Given the description of an element on the screen output the (x, y) to click on. 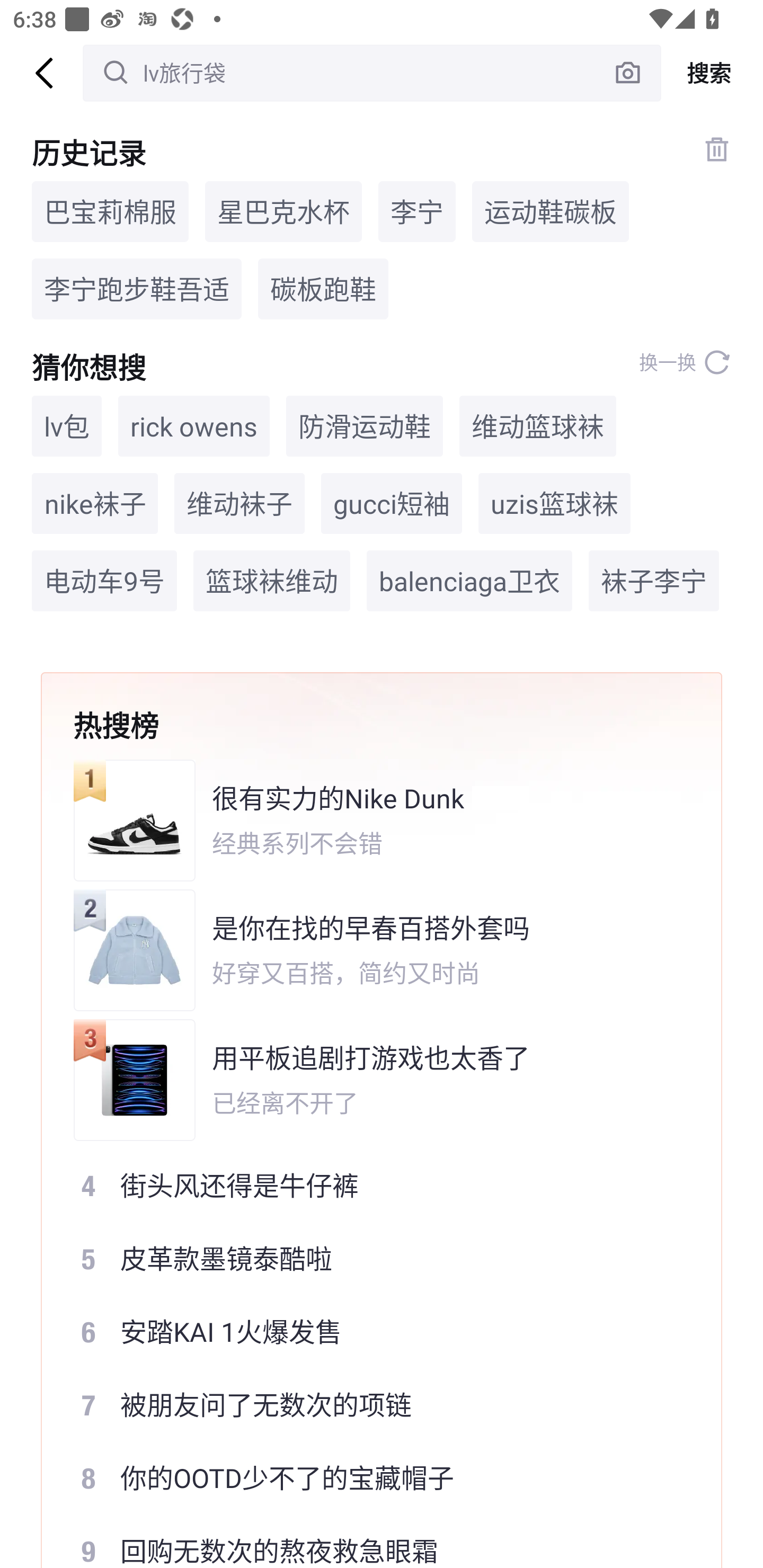
搜索 (712, 72)
lv旅行袋 (371, 72)
巴宝莉棉服 (110, 211)
星巴克水杯 (283, 211)
李宁 (416, 211)
运动鞋碳板 (550, 211)
李宁跑步鞋吾适 (136, 288)
碳板跑鞋 (322, 288)
换一换 (684, 362)
lv包 (66, 425)
rick owens (193, 425)
防滑运动鞋 (364, 425)
维动篮球袜 (537, 425)
nike袜子 (94, 503)
维动袜子 (238, 503)
gucci短袖 (391, 503)
uzis篮球袜 (554, 503)
电动车9号 (104, 580)
篮球袜维动 (271, 580)
balenciaga卫衣 (469, 580)
袜子李宁 (653, 580)
很有实力的Nike Dunk 经典系列不会错 (369, 819)
是你在找的早春百搭外套吗 好穿又百搭，简约又时尚 (369, 950)
用平板追剧打游戏也太香了 已经离不开了 (369, 1080)
4 街头风还得是牛仔裤 (369, 1185)
5 皮革款墨镜泰酷啦 (369, 1258)
6 安踏KAI 1火爆发售 (369, 1331)
7 被朋友问了无数次的项链 (369, 1404)
8 你的OOTD少不了的宝藏帽子 (369, 1477)
9 回购无数次的熬夜救急眼霜 (369, 1541)
